Given the description of an element on the screen output the (x, y) to click on. 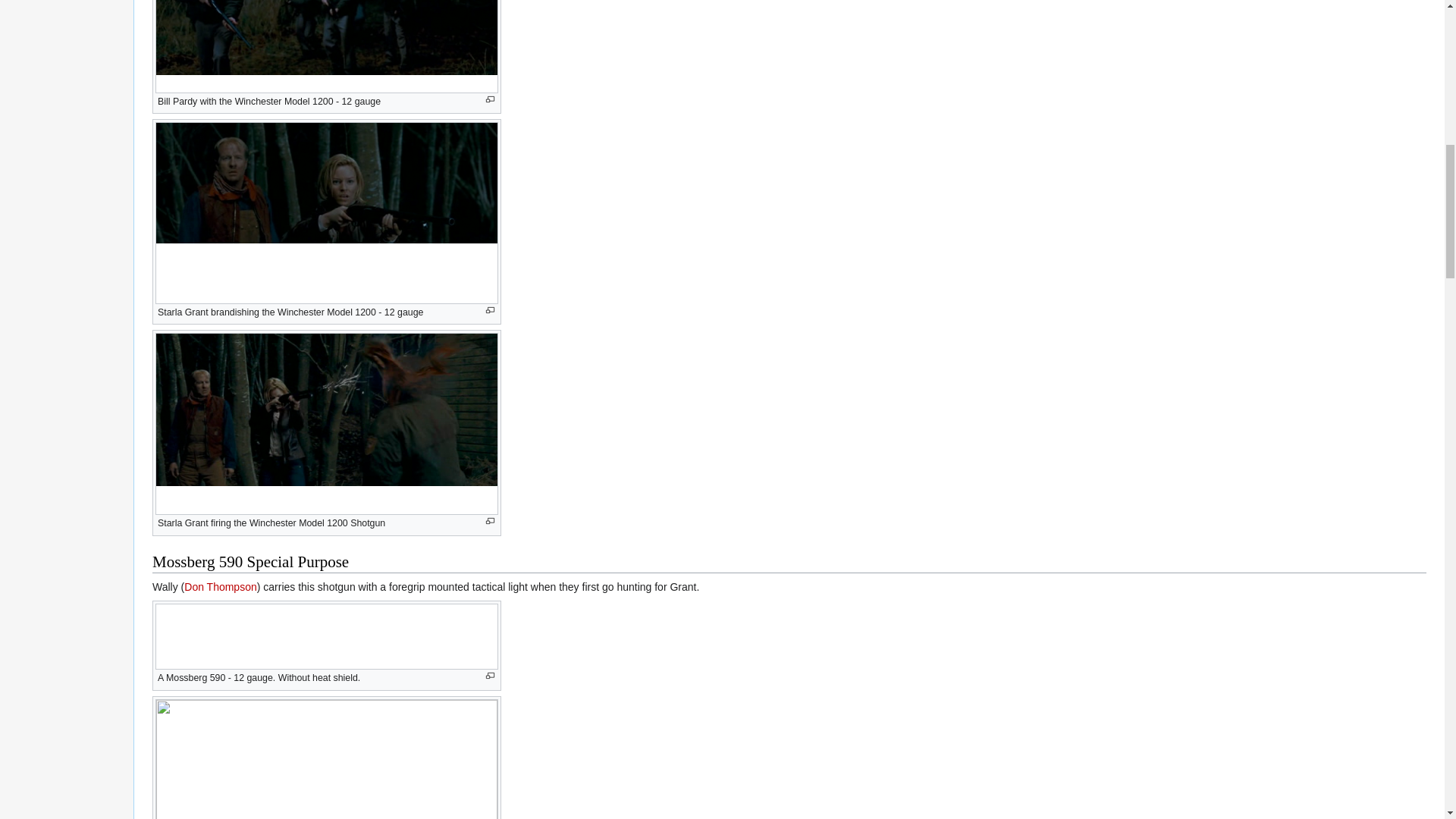
Enlarge (490, 520)
Enlarge (490, 99)
Don Thompson (220, 586)
Enlarge (490, 675)
Enlarge (490, 310)
